Given the description of an element on the screen output the (x, y) to click on. 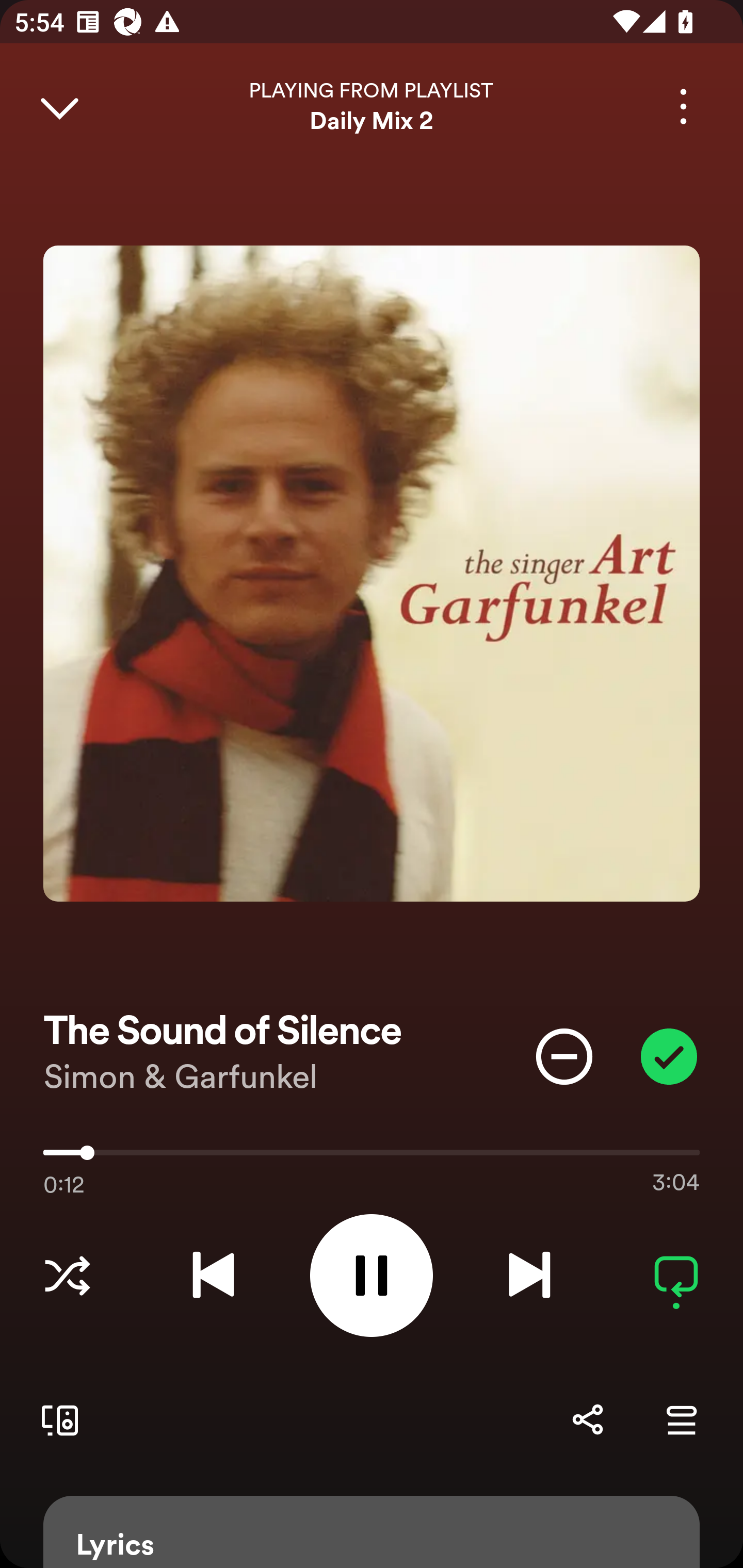
Close (59, 106)
More options for song The Sound of Silence (683, 106)
PLAYING FROM PLAYLIST Daily Mix 2 (371, 106)
Don't play this (564, 1056)
Item added (669, 1056)
0:12 3:04 12220.0 Use volume keys to adjust (371, 1157)
Pause (371, 1275)
Previous (212, 1275)
Next (529, 1275)
Shuffle tracks (66, 1275)
Repeat (676, 1275)
Share (587, 1419)
Go to Queue (681, 1419)
Connect to a device. Opens the devices menu (55, 1419)
Lyrics (371, 1531)
